Given the description of an element on the screen output the (x, y) to click on. 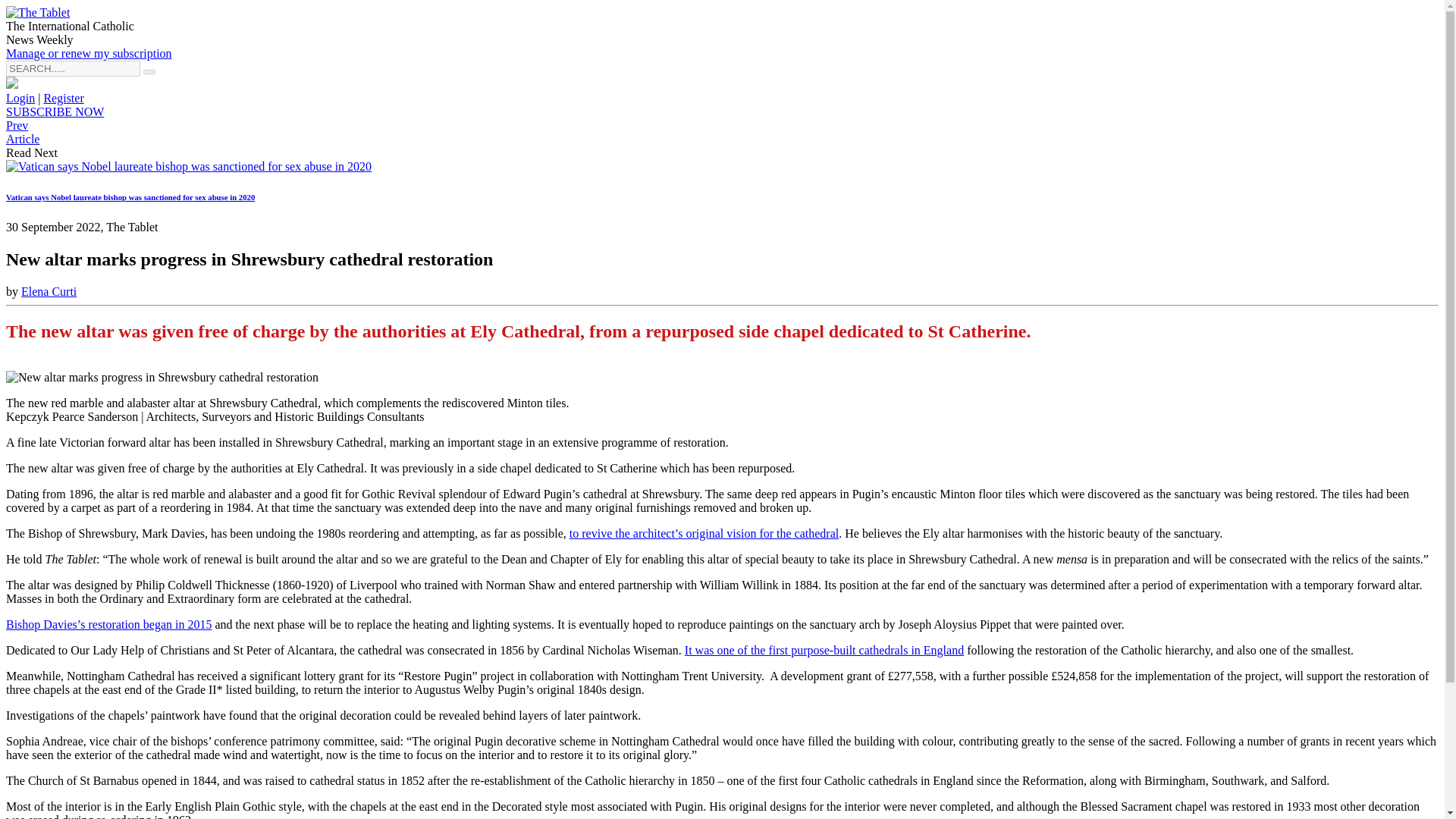
Nicaraguan president calls Church a 'dictatorship' (22, 131)
New altar marks progress in Shrewsbury cathedral restoration (161, 377)
Login (19, 97)
Elena Curti (49, 291)
Register (62, 97)
Click to search... (148, 71)
The Tablet (37, 11)
It was one of the first purpose-built cathedrals in England (823, 649)
